Given the description of an element on the screen output the (x, y) to click on. 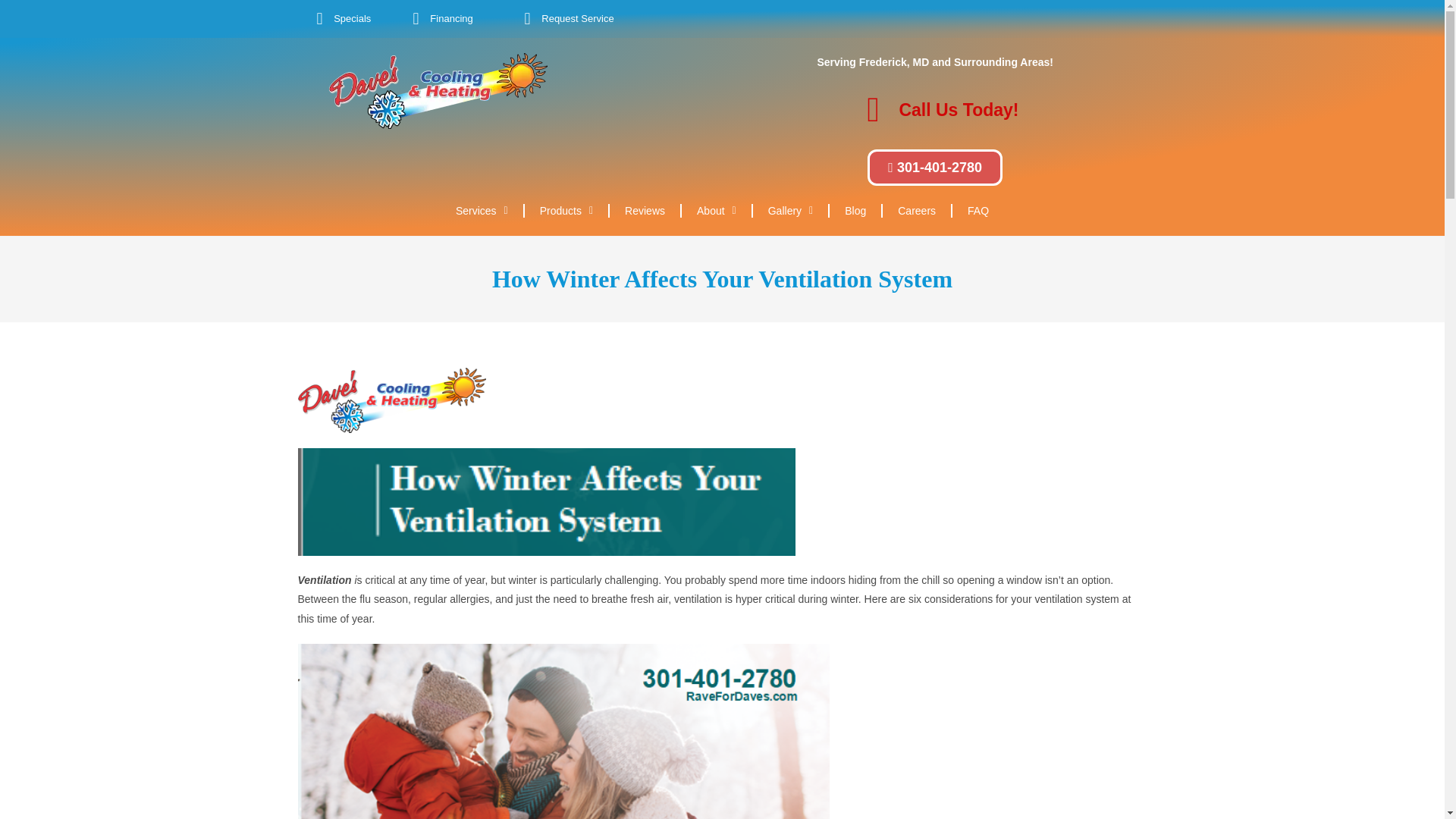
Request Service (564, 18)
Financing (438, 18)
Products (566, 210)
Services (481, 210)
Specials (339, 18)
Call Us Today! (934, 109)
301-401-2780 (935, 167)
